Given the description of an element on the screen output the (x, y) to click on. 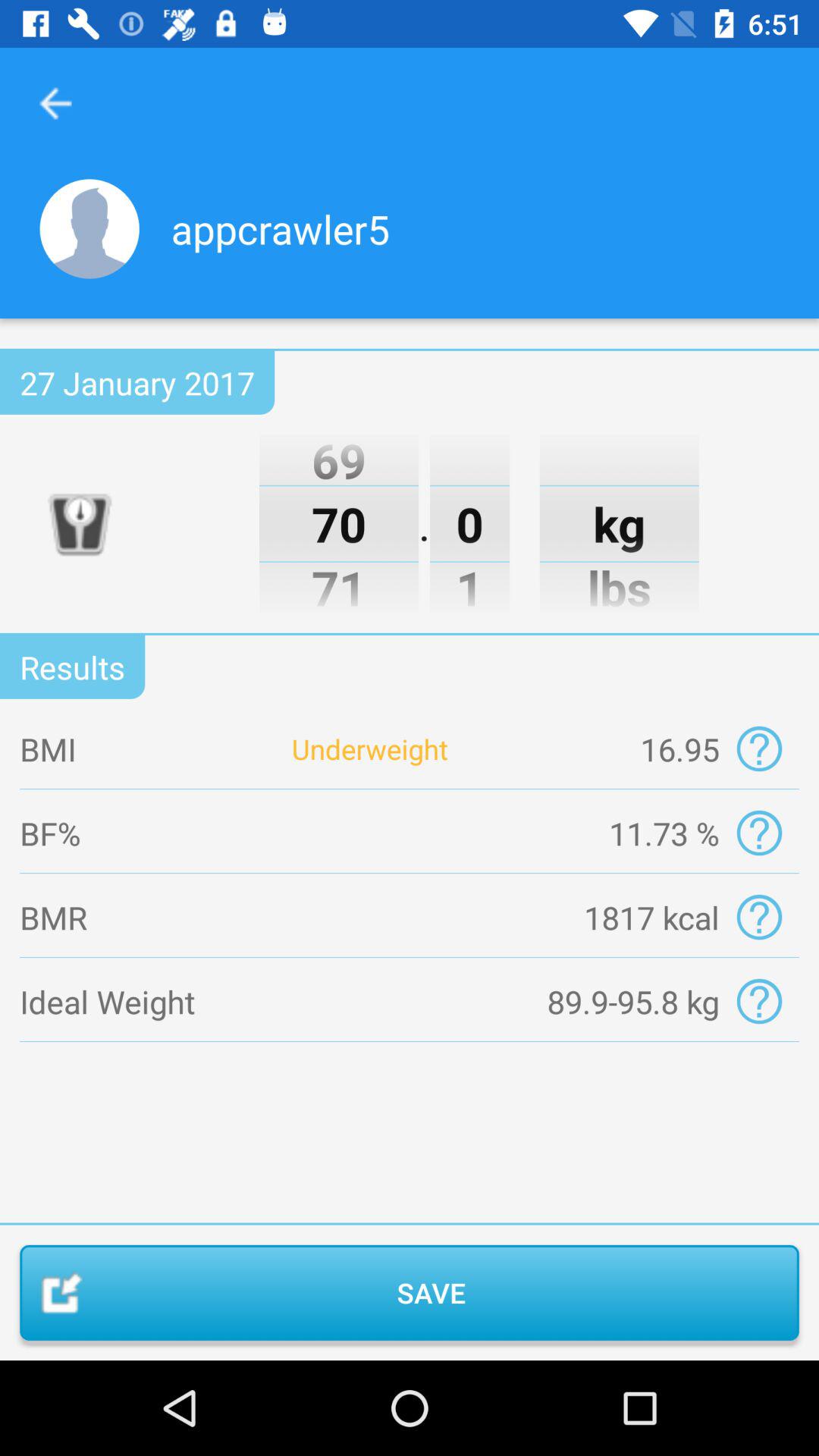
gives more information (759, 1001)
